Given the description of an element on the screen output the (x, y) to click on. 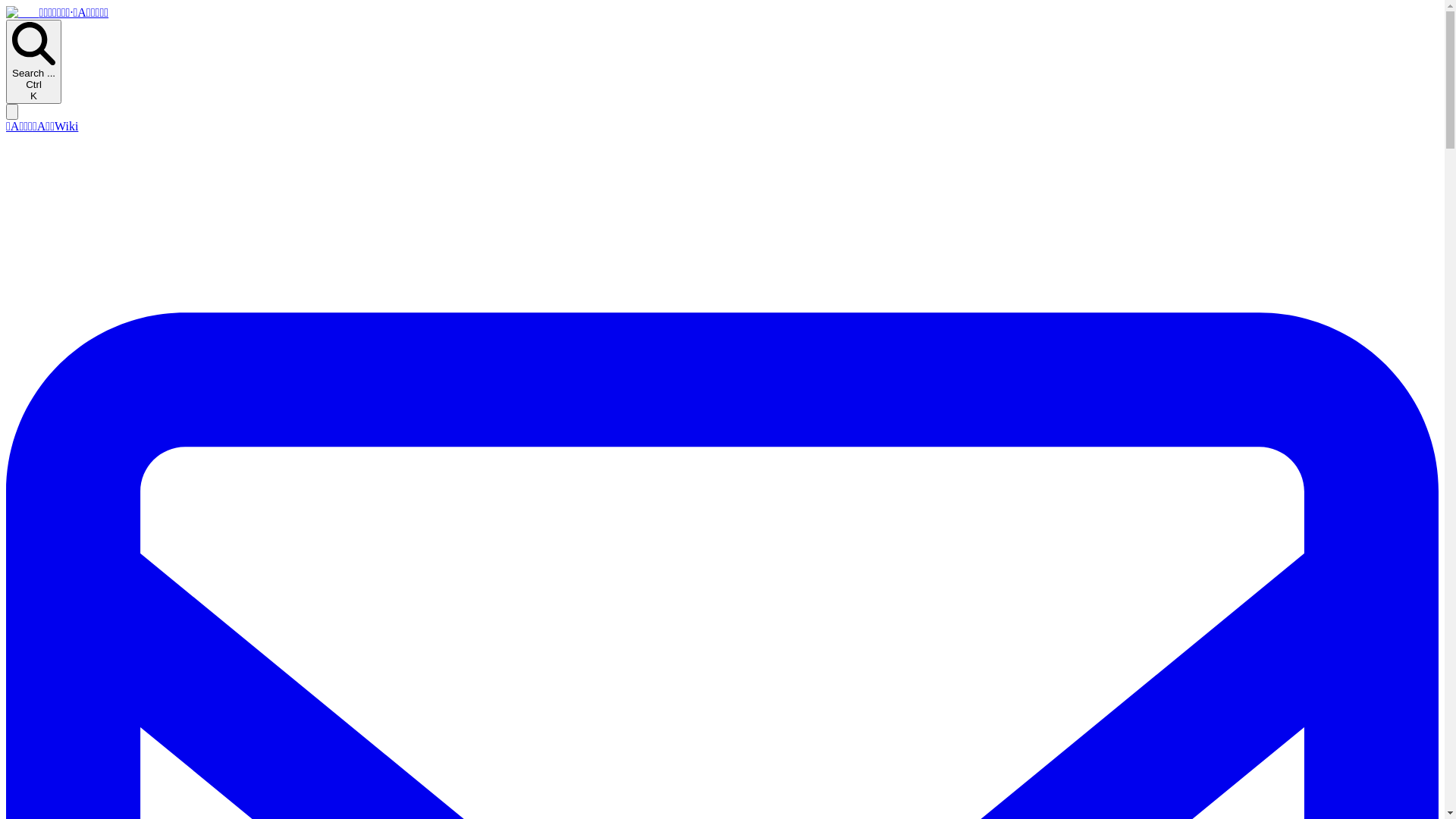
Search ...
Ctrl
K Element type: text (33, 61)
